Given the description of an element on the screen output the (x, y) to click on. 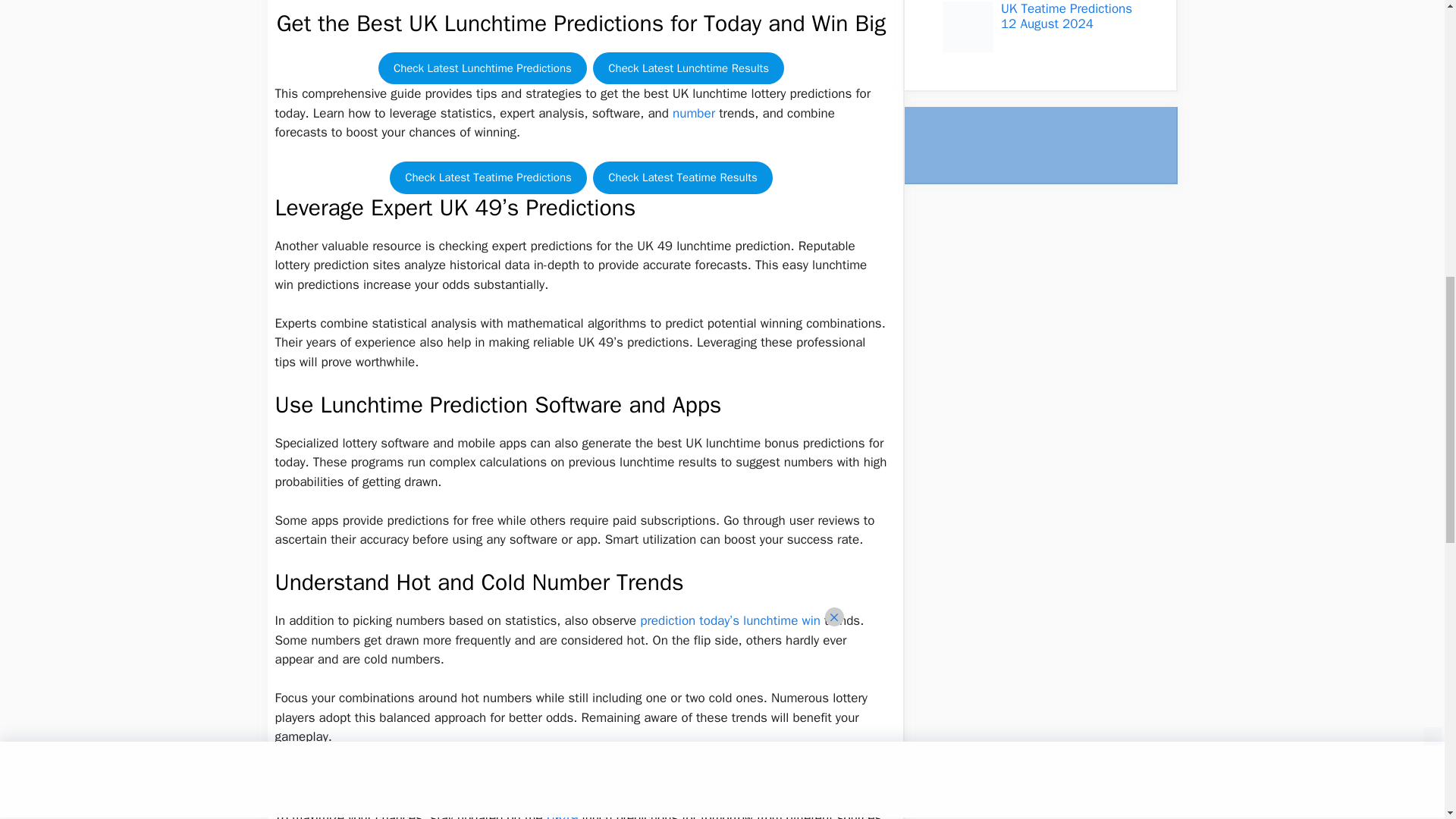
Check Latest Teatime Predictions (488, 177)
Check Latest Teatime Results (682, 177)
number (693, 113)
UK49 (562, 814)
Check Latest Lunchtime Predictions (482, 68)
Check Latest Lunchtime Results (688, 68)
